Given the description of an element on the screen output the (x, y) to click on. 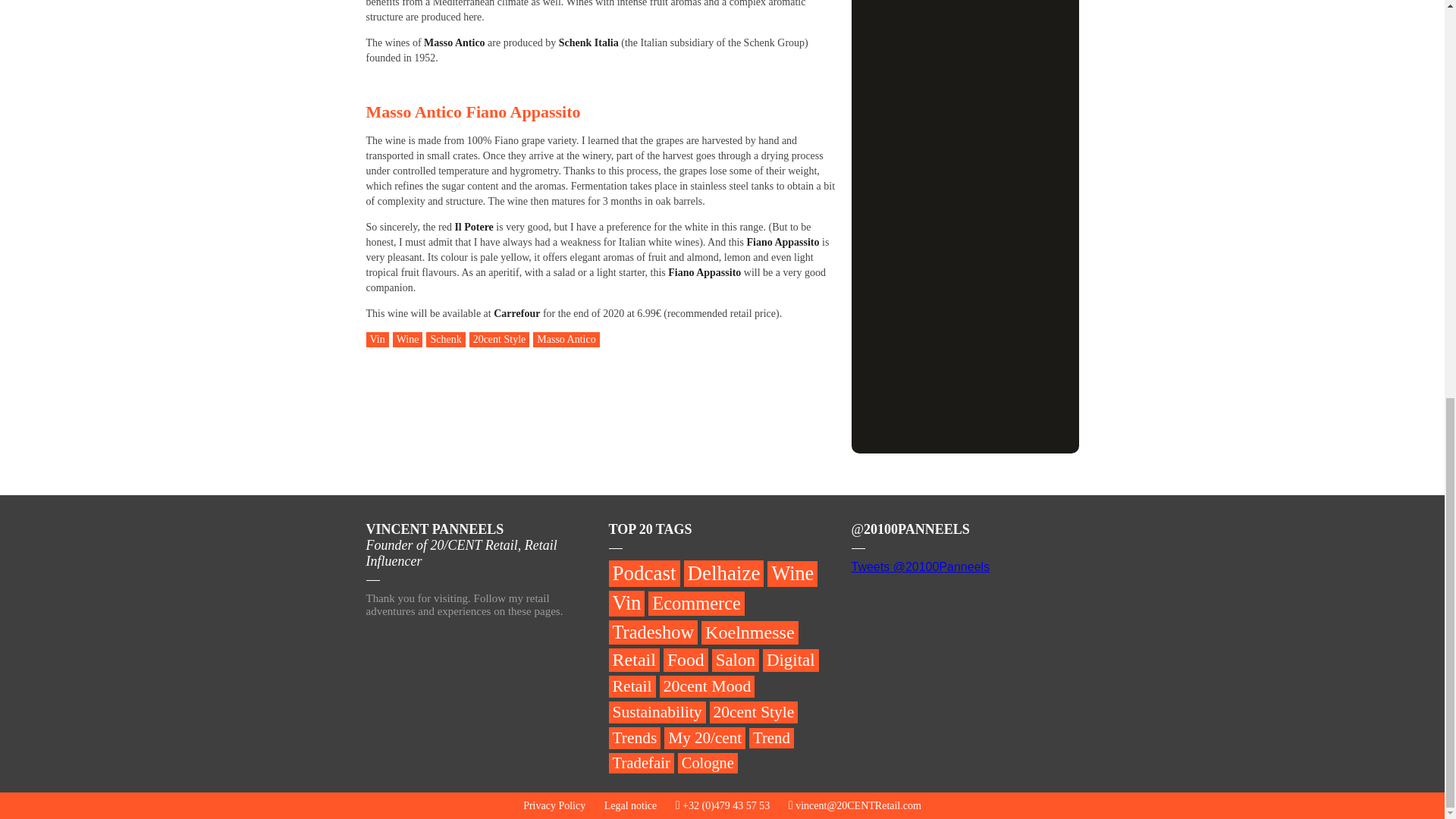
20cent Style (498, 339)
20cent Style (753, 712)
Schenk (445, 339)
Delhaize (724, 573)
Tradefair (640, 762)
Vin (626, 603)
Ecommerce (695, 603)
20cent Mood (707, 686)
Digital (790, 660)
Retail (631, 686)
Koelnmesse (749, 632)
Food (685, 659)
Trends (634, 738)
Sustainability (656, 712)
Podcast (643, 573)
